Given the description of an element on the screen output the (x, y) to click on. 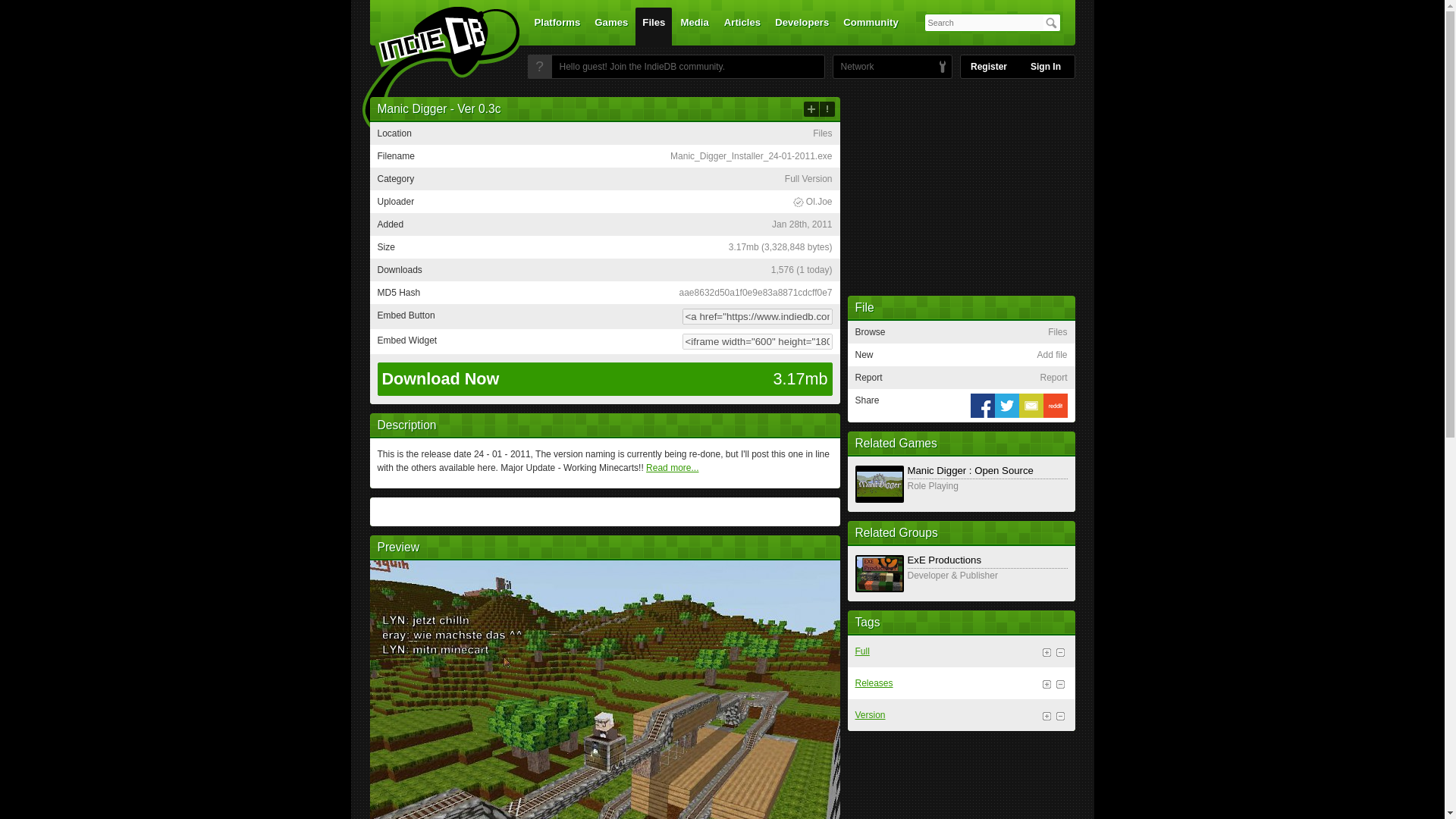
Join IndieDB (539, 66)
Search IndieDB (1050, 22)
Search (1050, 22)
Files (652, 26)
Share the file using this HTML (604, 316)
Add file (810, 109)
Media (694, 26)
Manic Digger - Ver 0.3c (604, 736)
Articles (742, 26)
Developers (801, 26)
Home (430, 70)
Games (611, 26)
Embed the file using this HTML (604, 341)
Download Manager (812, 201)
